Given the description of an element on the screen output the (x, y) to click on. 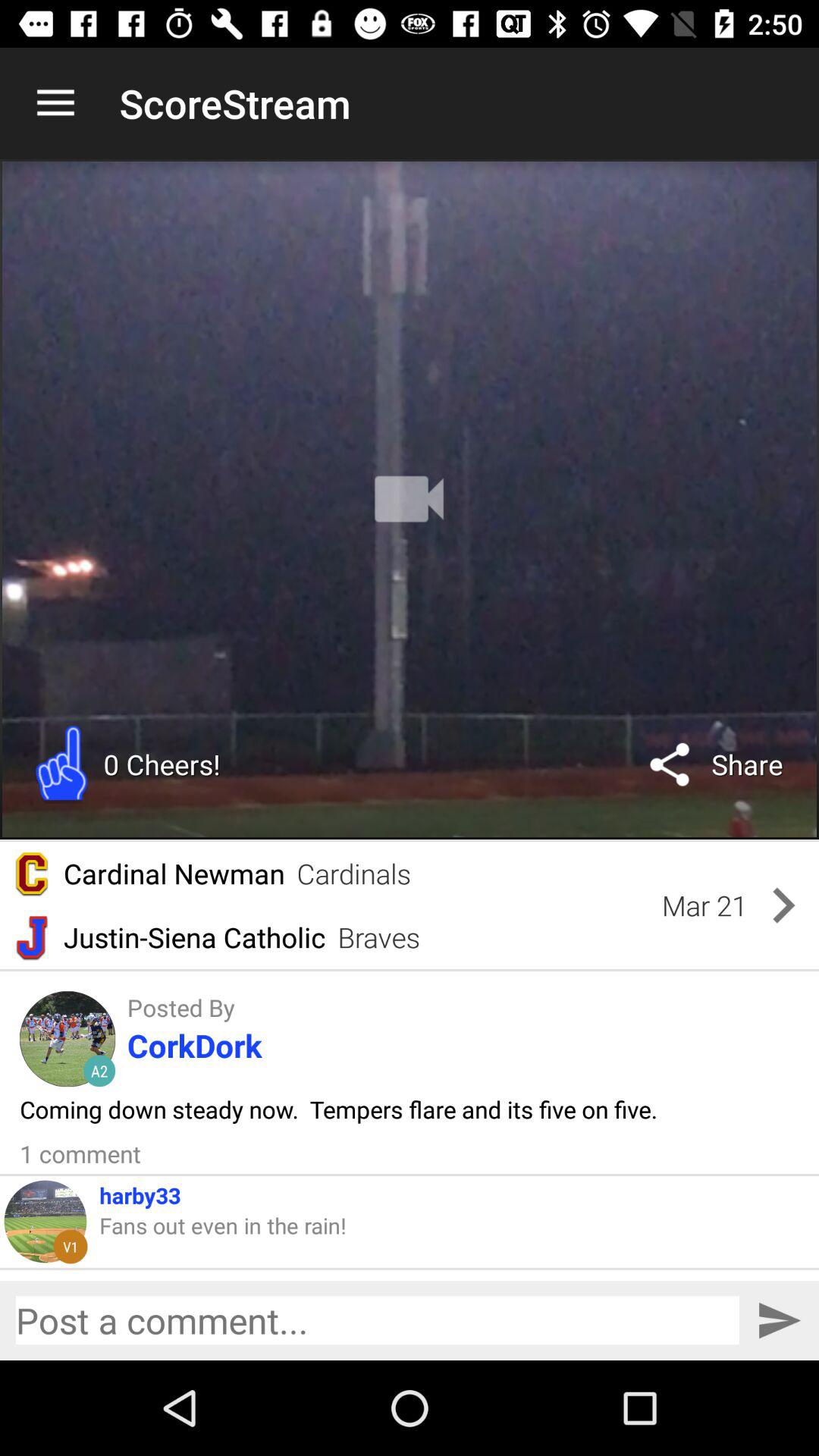
choose the icon next to the fans out even (70, 1246)
